Given the description of an element on the screen output the (x, y) to click on. 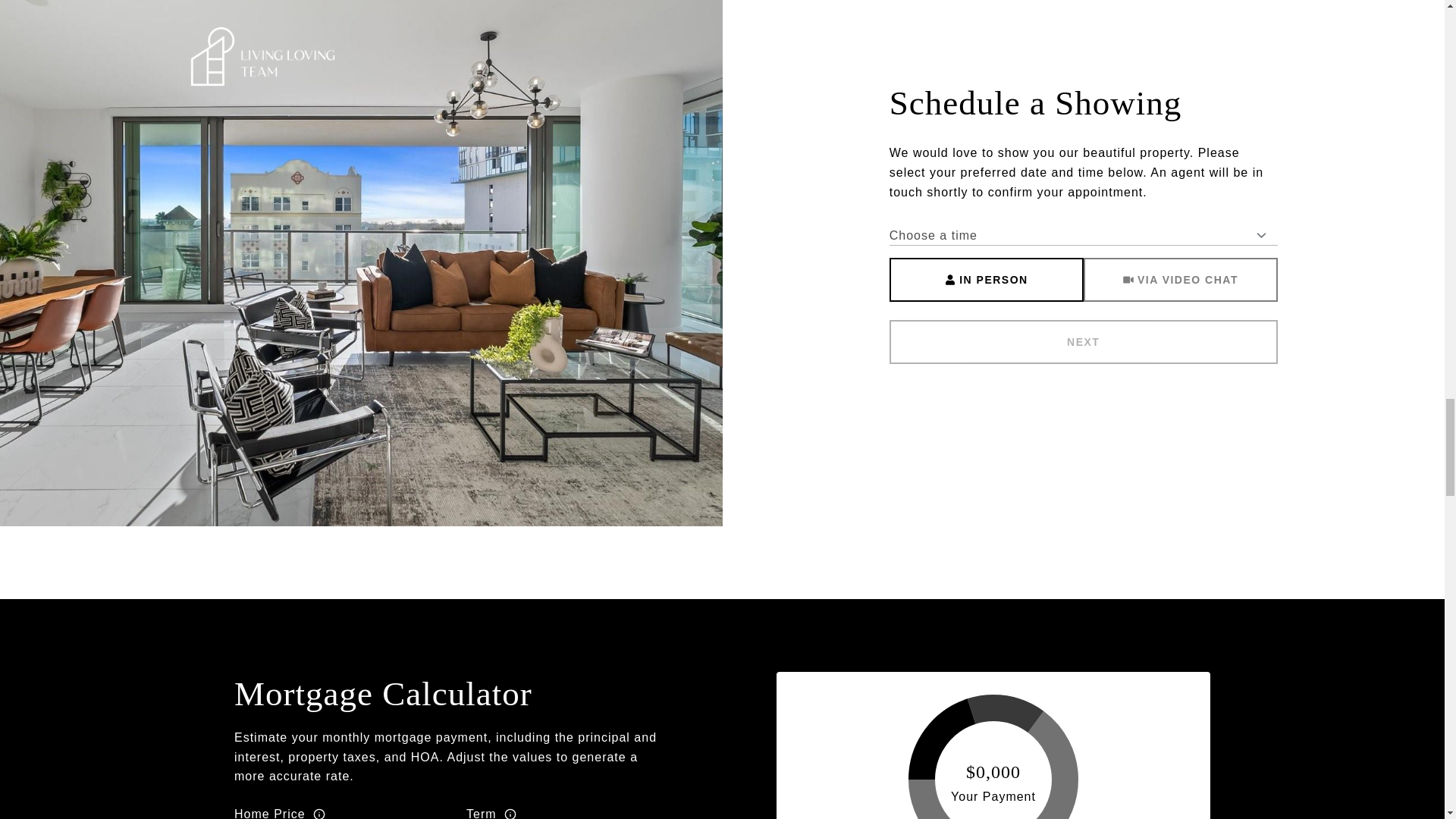
NEXT (1083, 341)
